Given the description of an element on the screen output the (x, y) to click on. 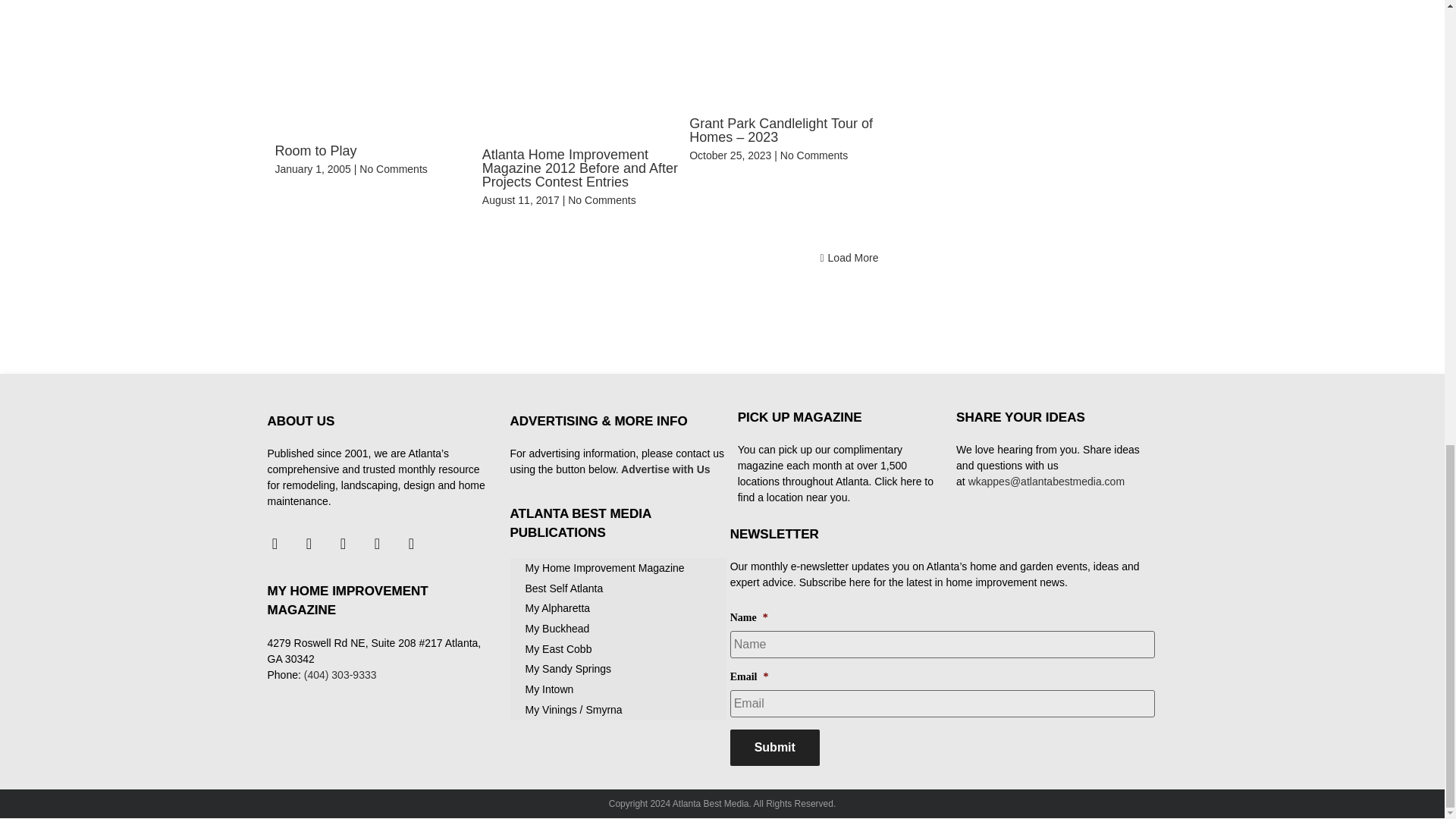
Submit (774, 747)
